Given the description of an element on the screen output the (x, y) to click on. 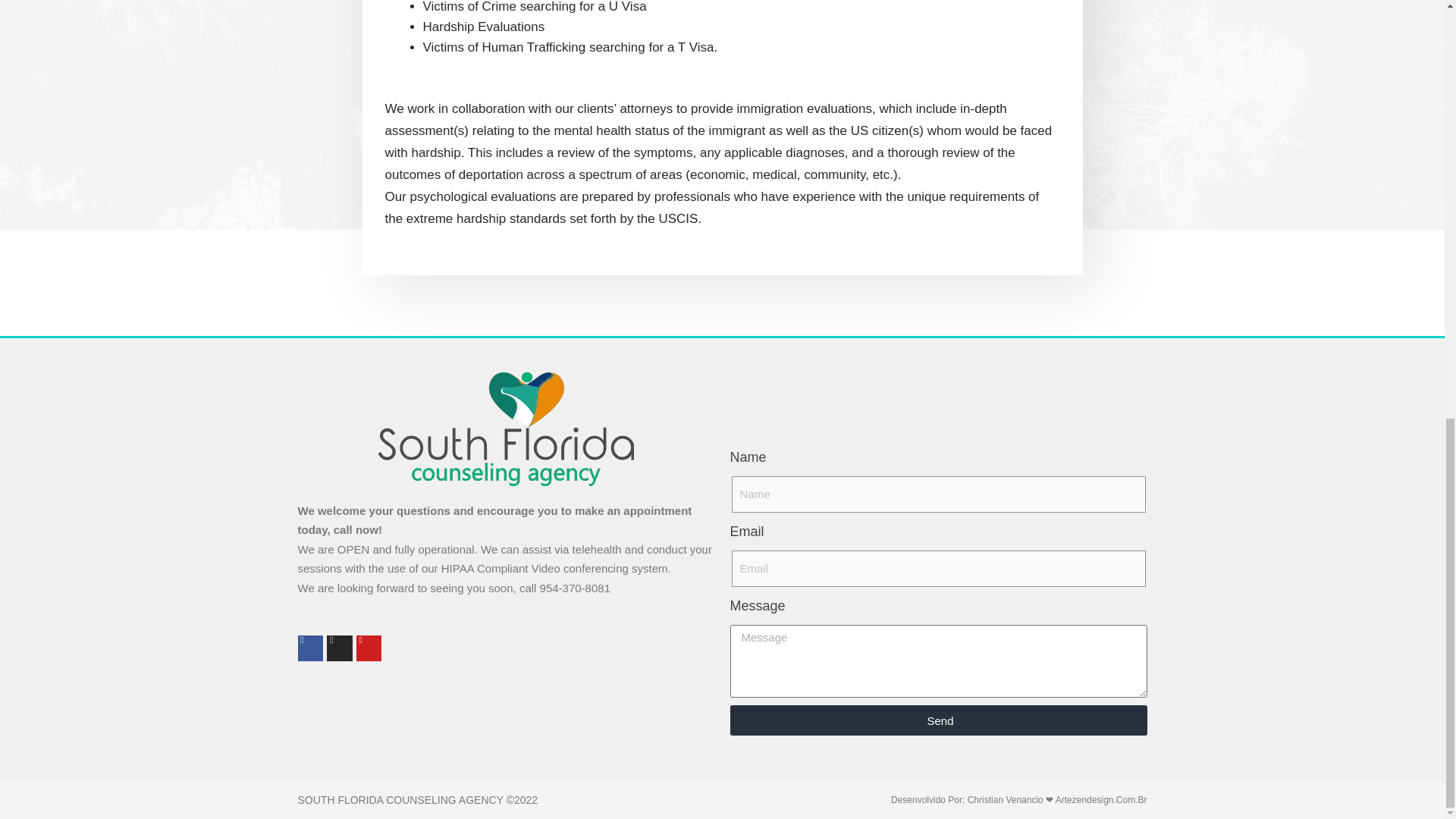
Send (938, 720)
